Given the description of an element on the screen output the (x, y) to click on. 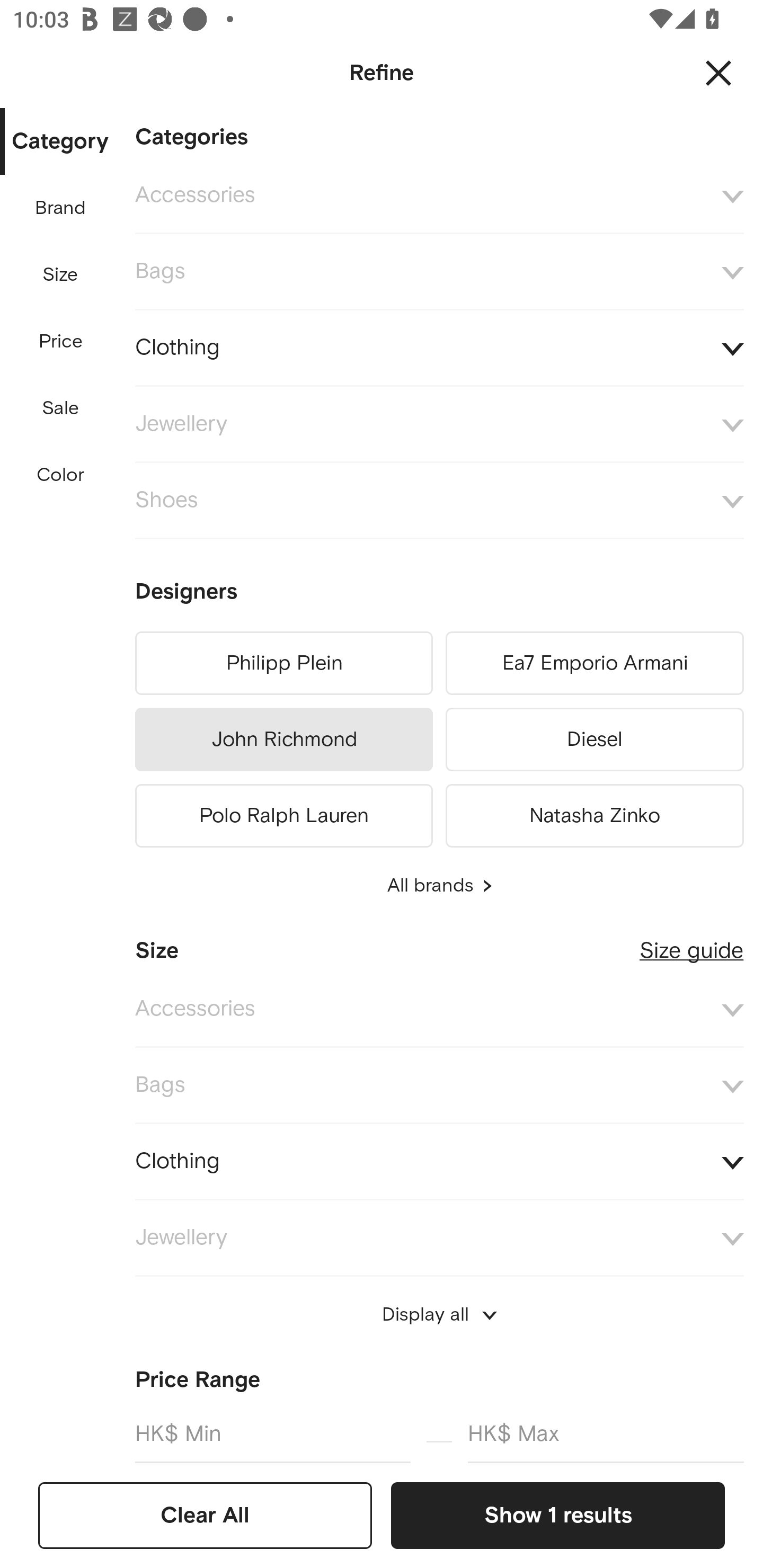
Category (60, 141)
Accessories (439, 194)
Brand (60, 208)
Bags (439, 271)
Size (60, 274)
Price (60, 342)
Clothing (439, 347)
Sale (60, 408)
Jewellery (439, 423)
Color (60, 475)
Shoes (439, 500)
Philipp Plein (283, 662)
Ea7 Emporio Armani (594, 662)
John Richmond (283, 738)
Diesel (594, 738)
Polo Ralph Lauren (283, 812)
Natasha Zinko (594, 812)
All brands (439, 885)
Size guide (691, 942)
Accessories (439, 1008)
Bags (439, 1085)
Clothing (439, 1161)
Jewellery (439, 1237)
Display all (439, 1314)
HK$ Min (272, 1432)
HK$ Max (605, 1432)
Clear All (205, 1515)
Show 1 results (557, 1515)
